Given the description of an element on the screen output the (x, y) to click on. 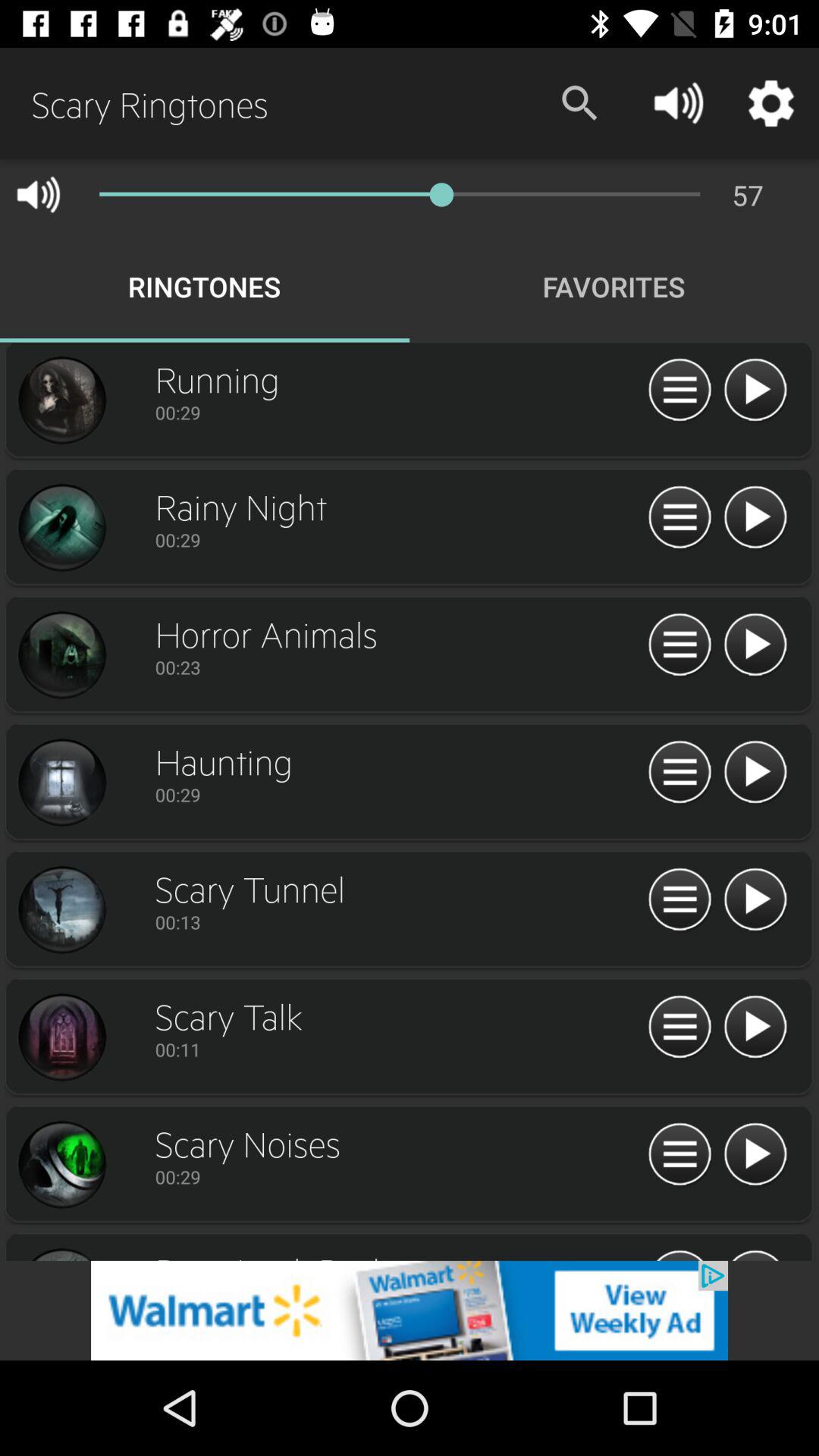
click pause button (679, 645)
